Given the description of an element on the screen output the (x, y) to click on. 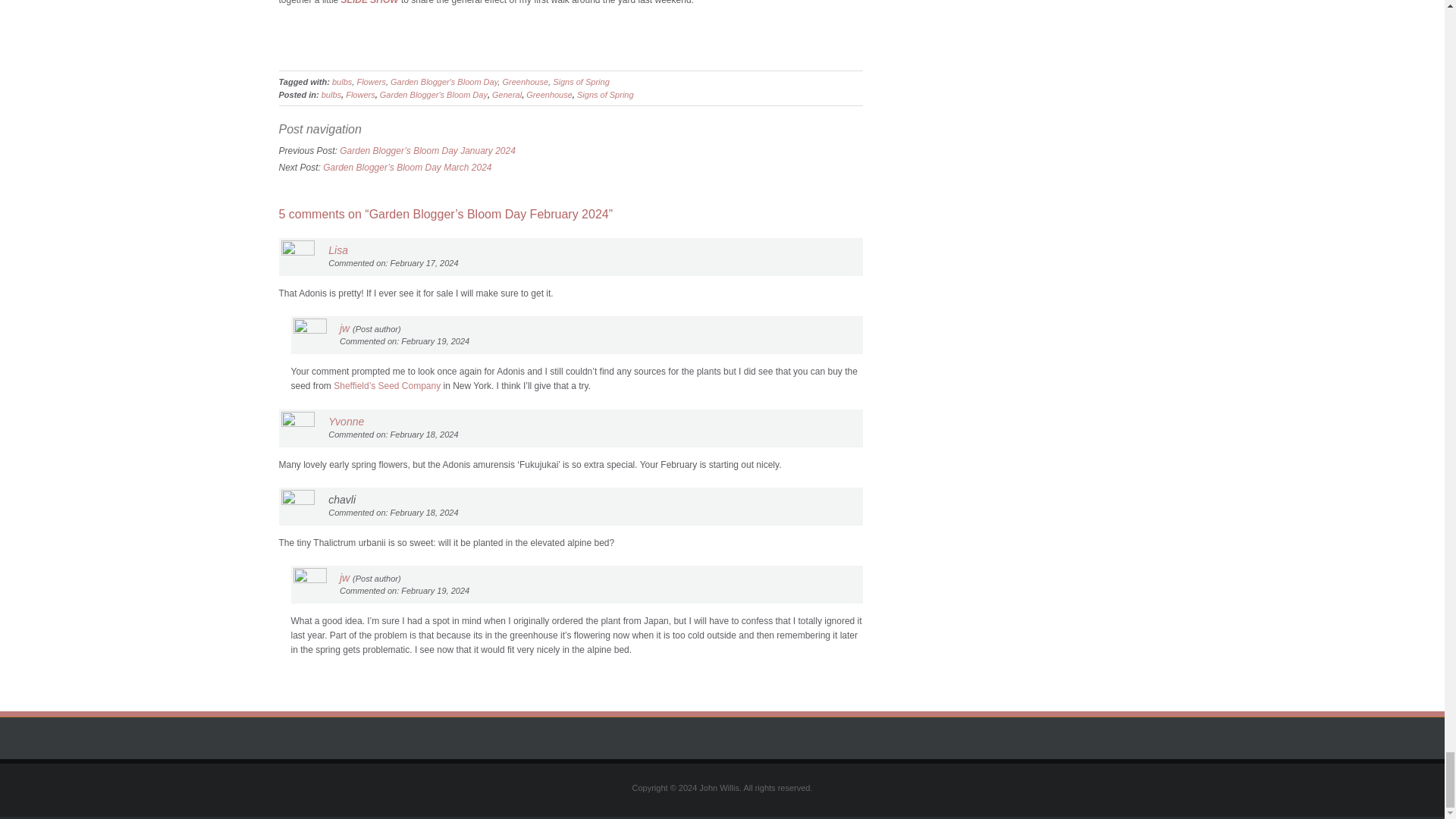
Garden Blogger's Bloom Day (433, 94)
Flowers (360, 94)
bulbs (341, 81)
SLIDE SHOW (369, 2)
General (506, 94)
Greenhouse (525, 81)
Greenhouse (548, 94)
Yvonne (346, 421)
bulbs (330, 94)
Flowers (370, 81)
